Given the description of an element on the screen output the (x, y) to click on. 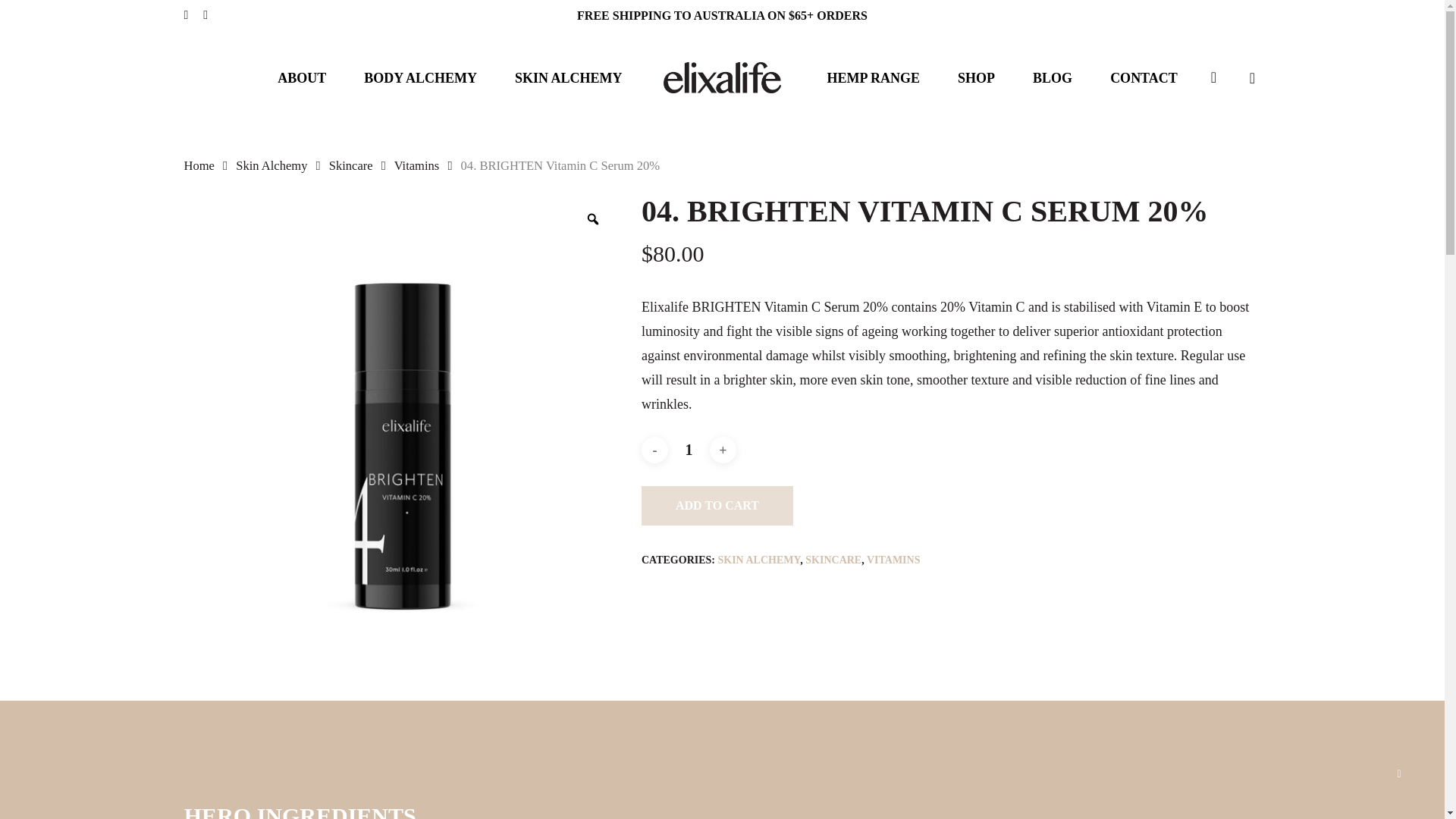
CONTACT (1143, 78)
Skin Alchemy (271, 165)
VITAMINS (893, 559)
Vitamins (416, 165)
- (655, 449)
BODY ALCHEMY (420, 78)
BLOG (1051, 78)
SKIN ALCHEMY (569, 78)
SKIN ALCHEMY (758, 559)
HEMP RANGE (873, 78)
